Given the description of an element on the screen output the (x, y) to click on. 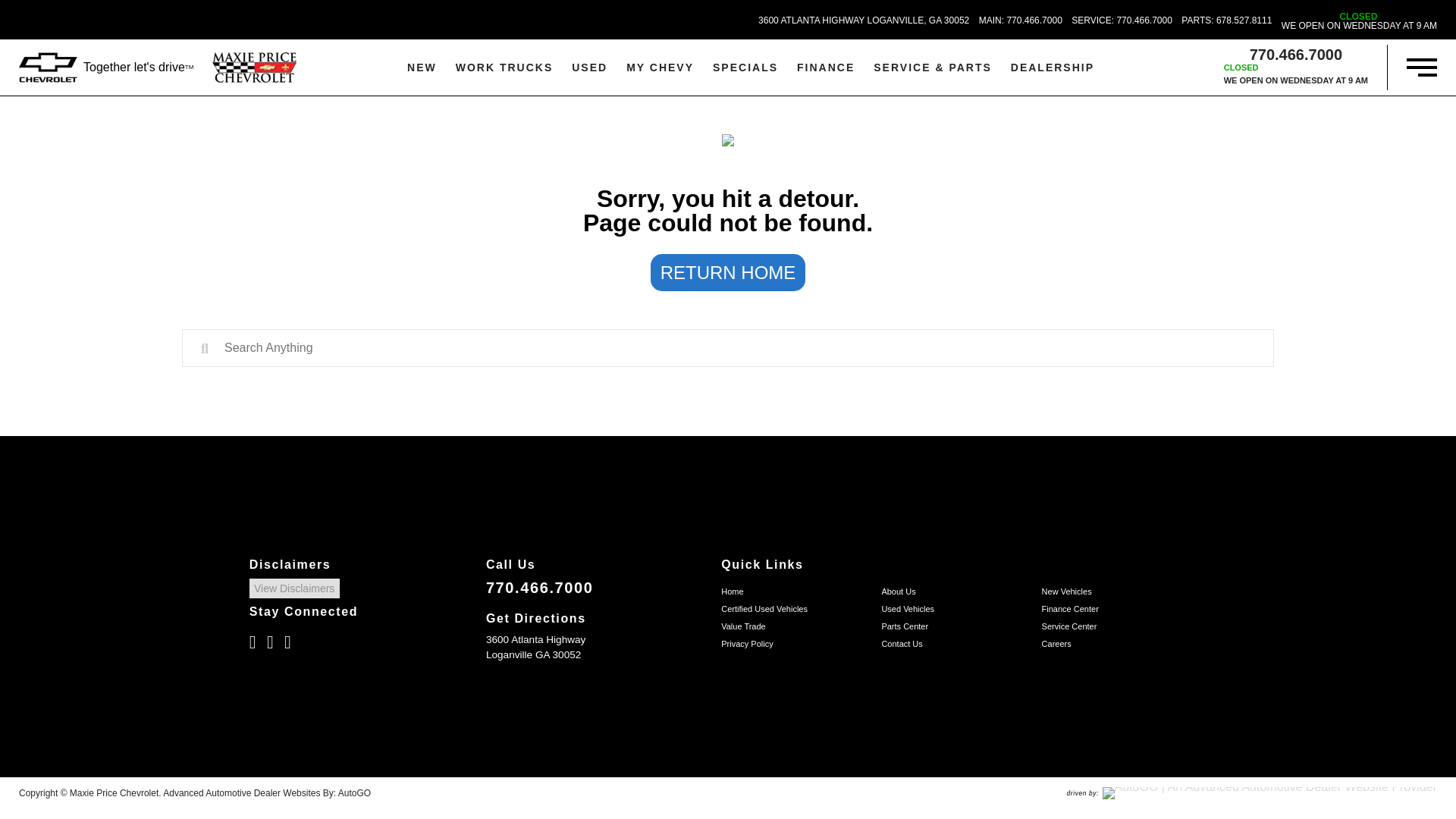
Get Hours and Directions to Maxie Price Chevrolet (1359, 21)
SERVICE: 770.466.7000 (1121, 20)
Call Main at Maxie Price Chevrolet (1359, 21)
Call Service at Maxie Price Chevrolet (1020, 20)
Maxie Price Chevrolet (1121, 20)
PARTS: 678.527.8111 (254, 67)
3600 ATLANTA HIGHWAY LOGANVILLE, GA 30052 (1225, 20)
MAIN: 770.466.7000 (863, 20)
Call Parts at Maxie Price Chevrolet (1020, 20)
